Given the description of an element on the screen output the (x, y) to click on. 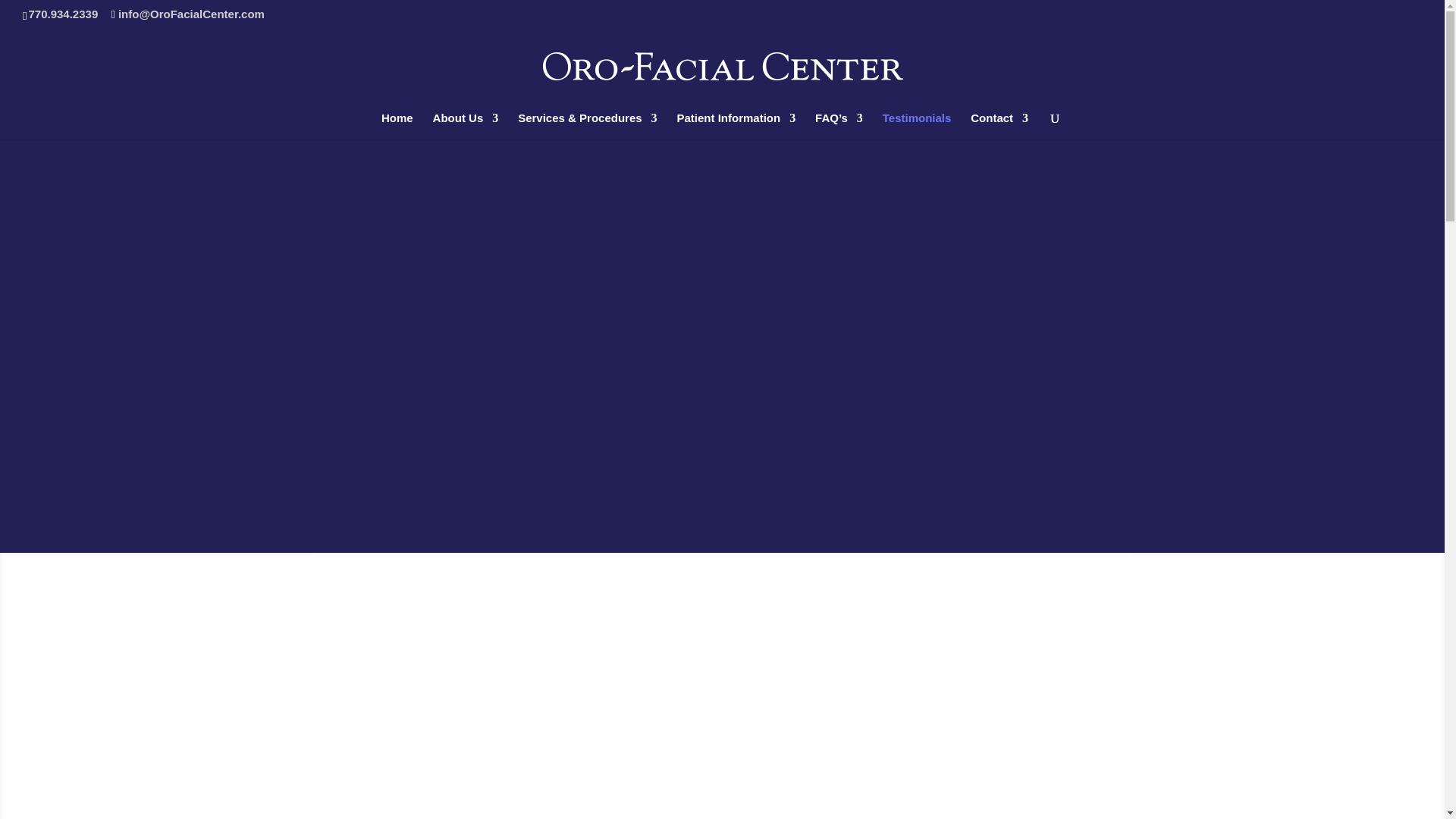
About Us (465, 126)
Contact (999, 126)
Home (397, 126)
Patient Information (735, 126)
Testimonials (917, 126)
